Given the description of an element on the screen output the (x, y) to click on. 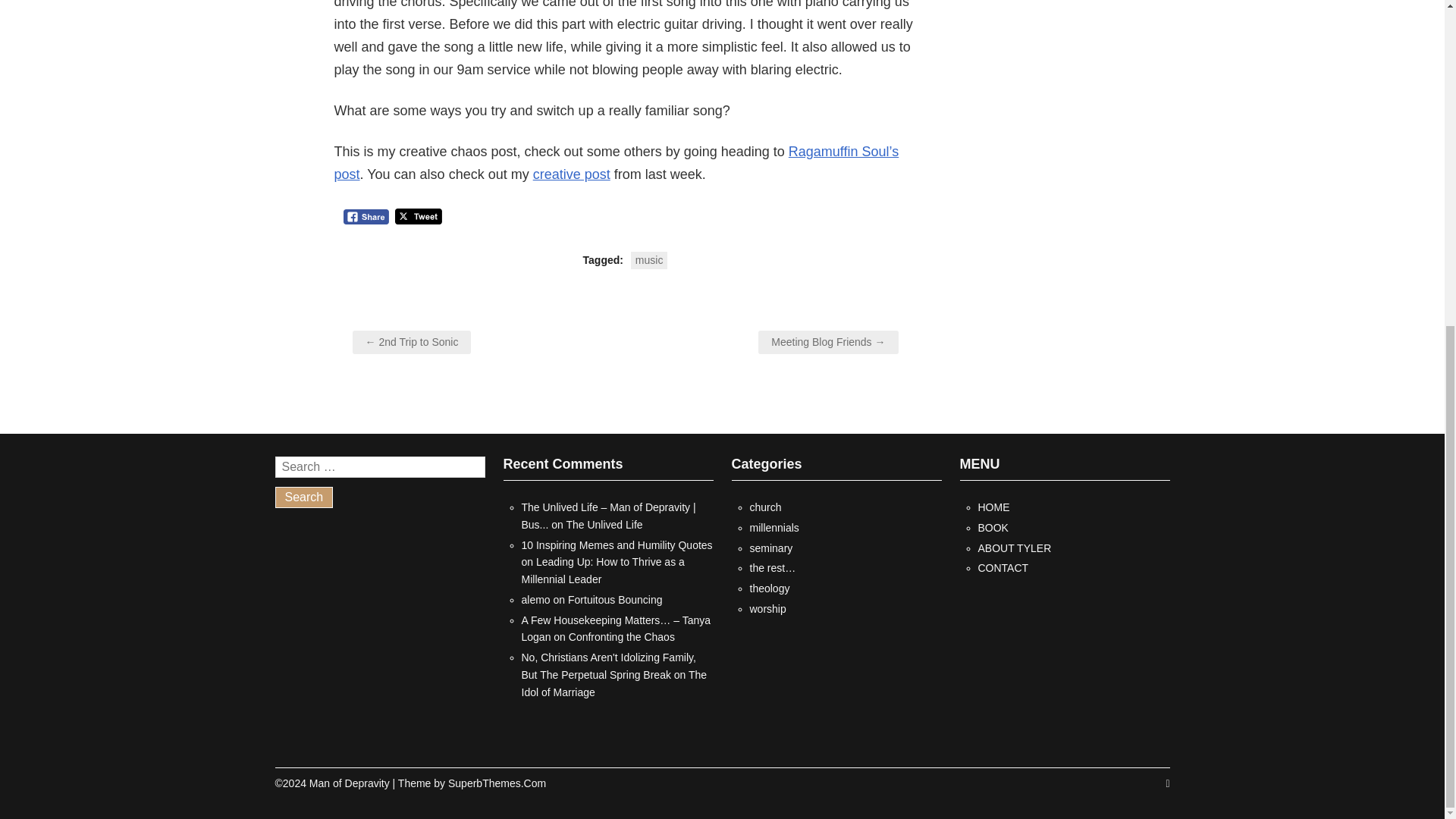
ABOUT TYLER (1014, 548)
Fortuitous Bouncing (614, 599)
music (649, 260)
Confronting the Chaos (622, 636)
Theology (769, 588)
10 Inspiring Memes and Humility Quotes (617, 544)
worship (767, 608)
Search (304, 496)
alemo (535, 599)
The Unlived Life (604, 524)
millennials (773, 527)
theology (769, 588)
